Given the description of an element on the screen output the (x, y) to click on. 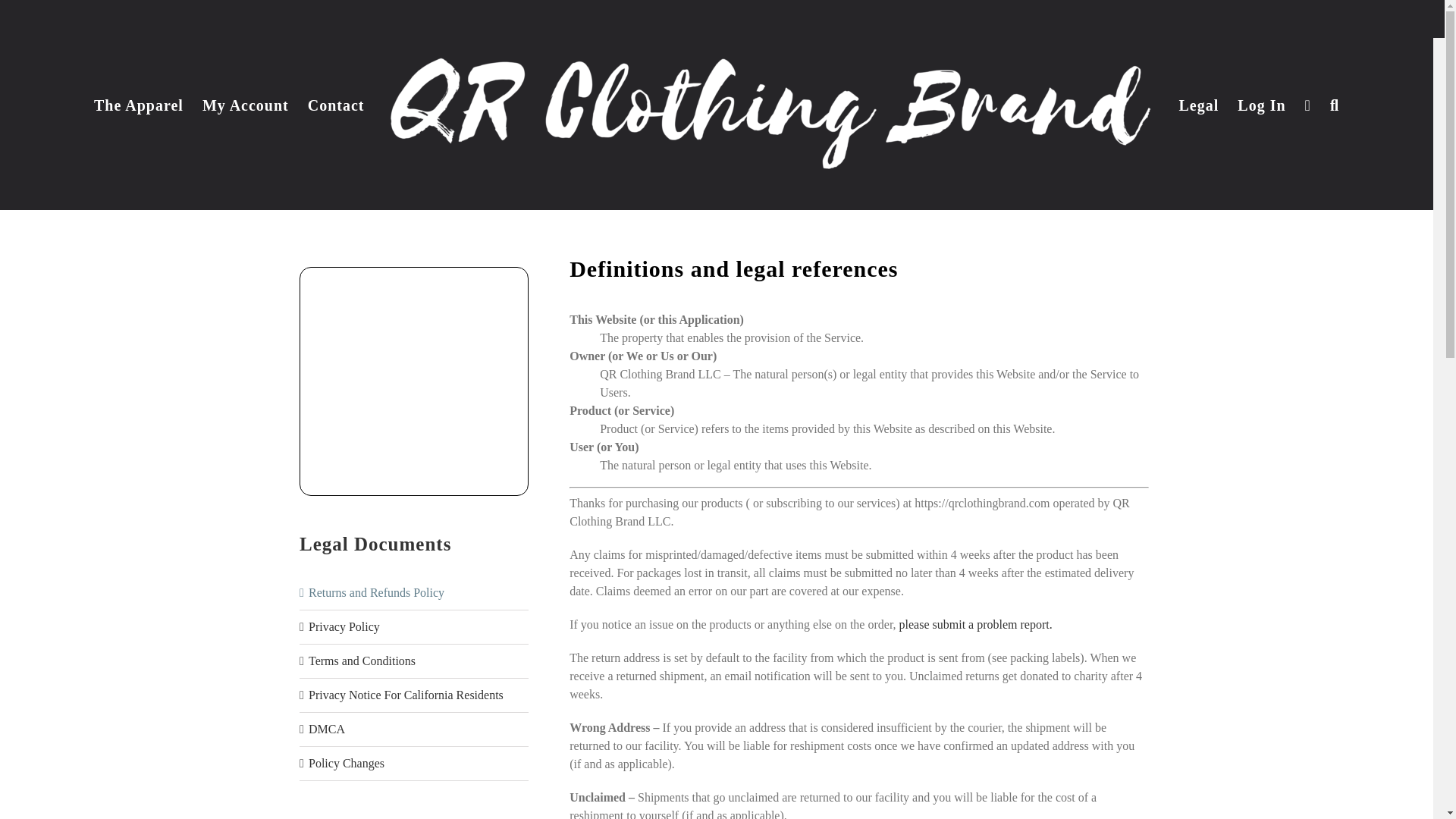
Returns and Refunds Policy (376, 592)
Logo-76495339-D0F7-4862-AFDD-7D7E8E611E95 (413, 381)
Terms and Conditions (361, 660)
Privacy Notice For California Residents (405, 694)
The Apparel (138, 104)
please submit a problem report. (975, 624)
My Account (245, 104)
Policy Changes (346, 762)
Privacy Policy (344, 626)
DMCA (326, 728)
